Given the description of an element on the screen output the (x, y) to click on. 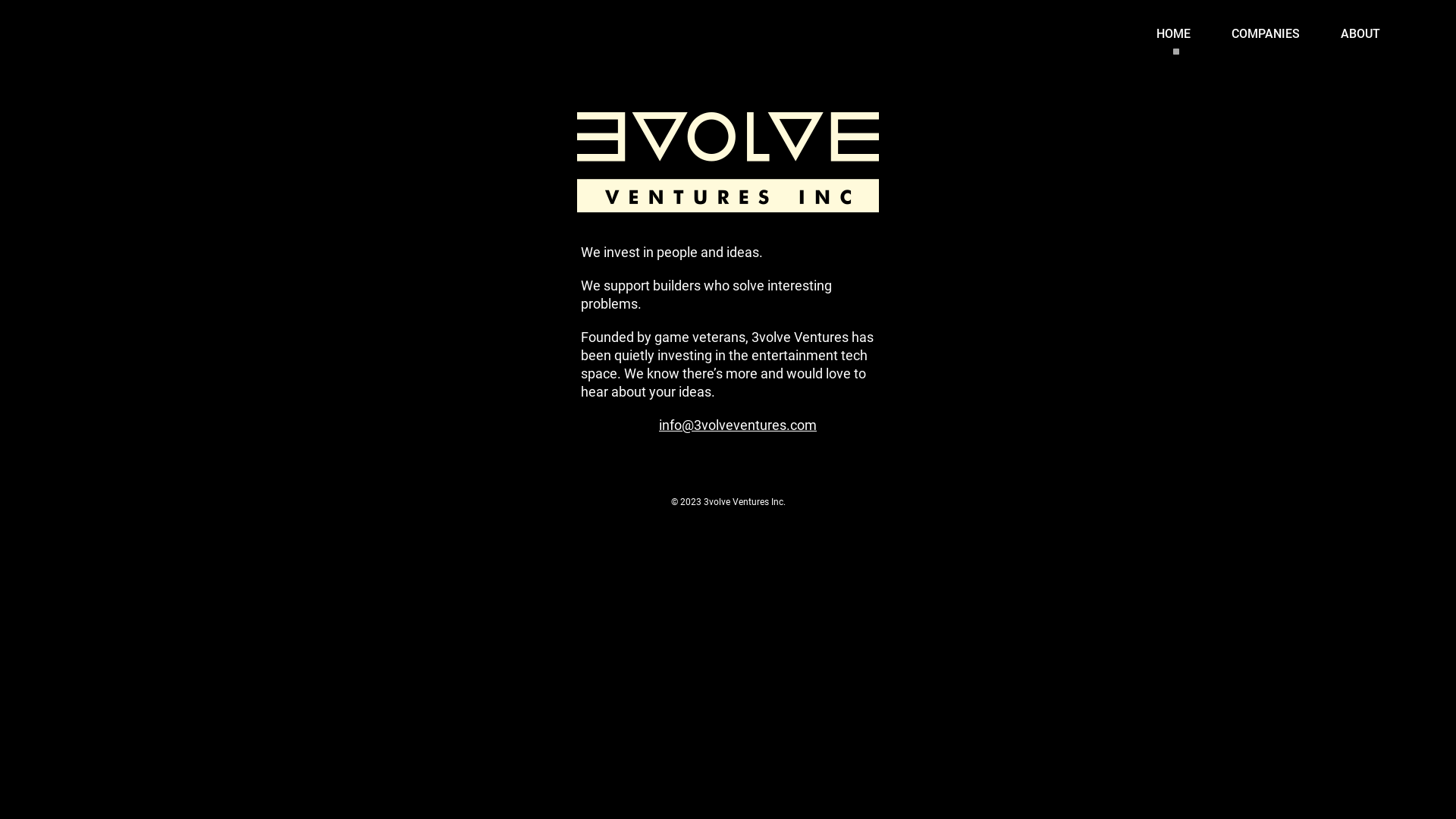
COMPANIES Element type: text (1265, 34)
info@3volveventures.com Element type: text (737, 417)
ABOUT Element type: text (1360, 34)
HOME Element type: text (1173, 34)
